Given the description of an element on the screen output the (x, y) to click on. 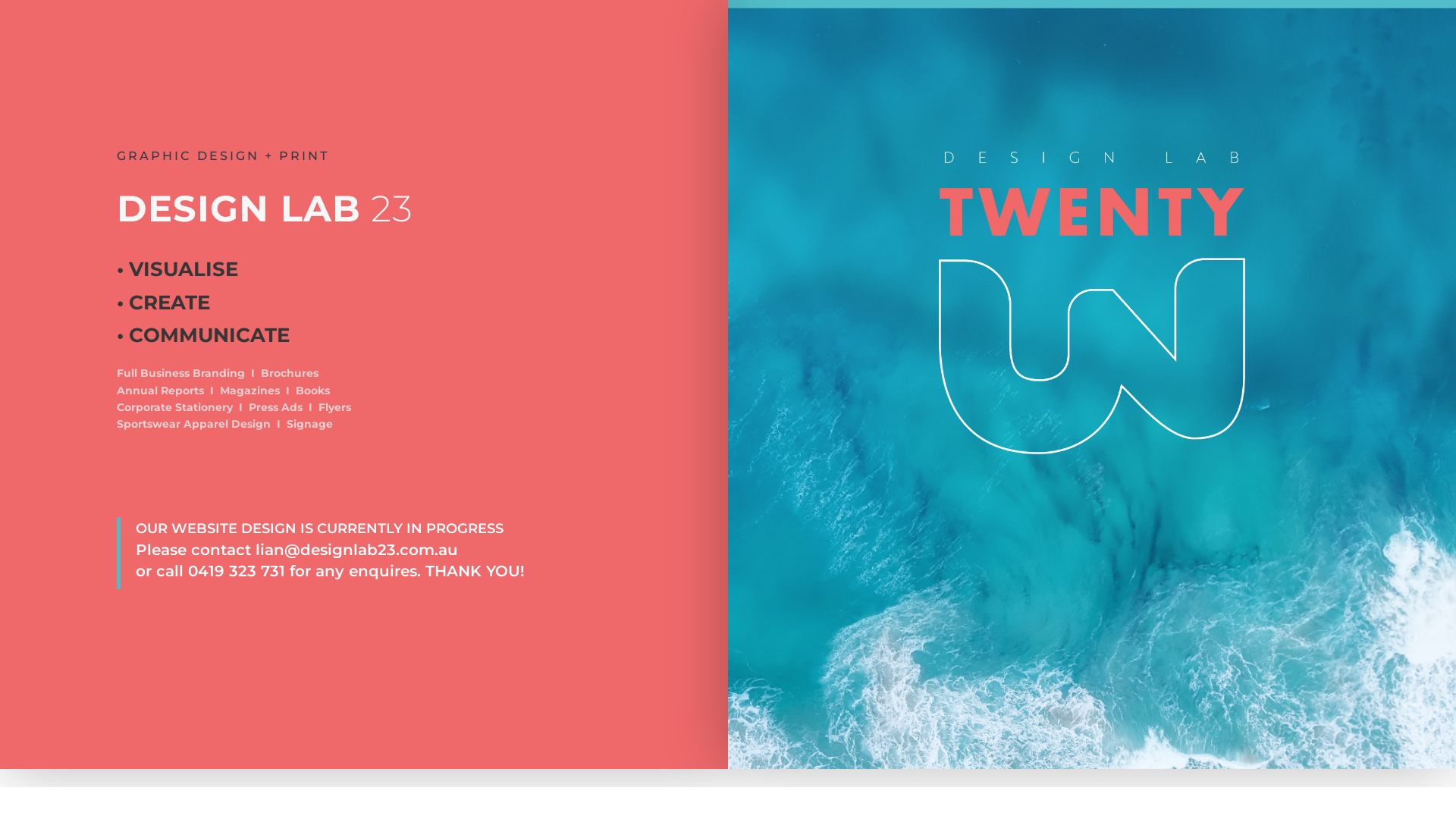
lian@designlab23.com.au Element type: text (356, 549)
